Given the description of an element on the screen output the (x, y) to click on. 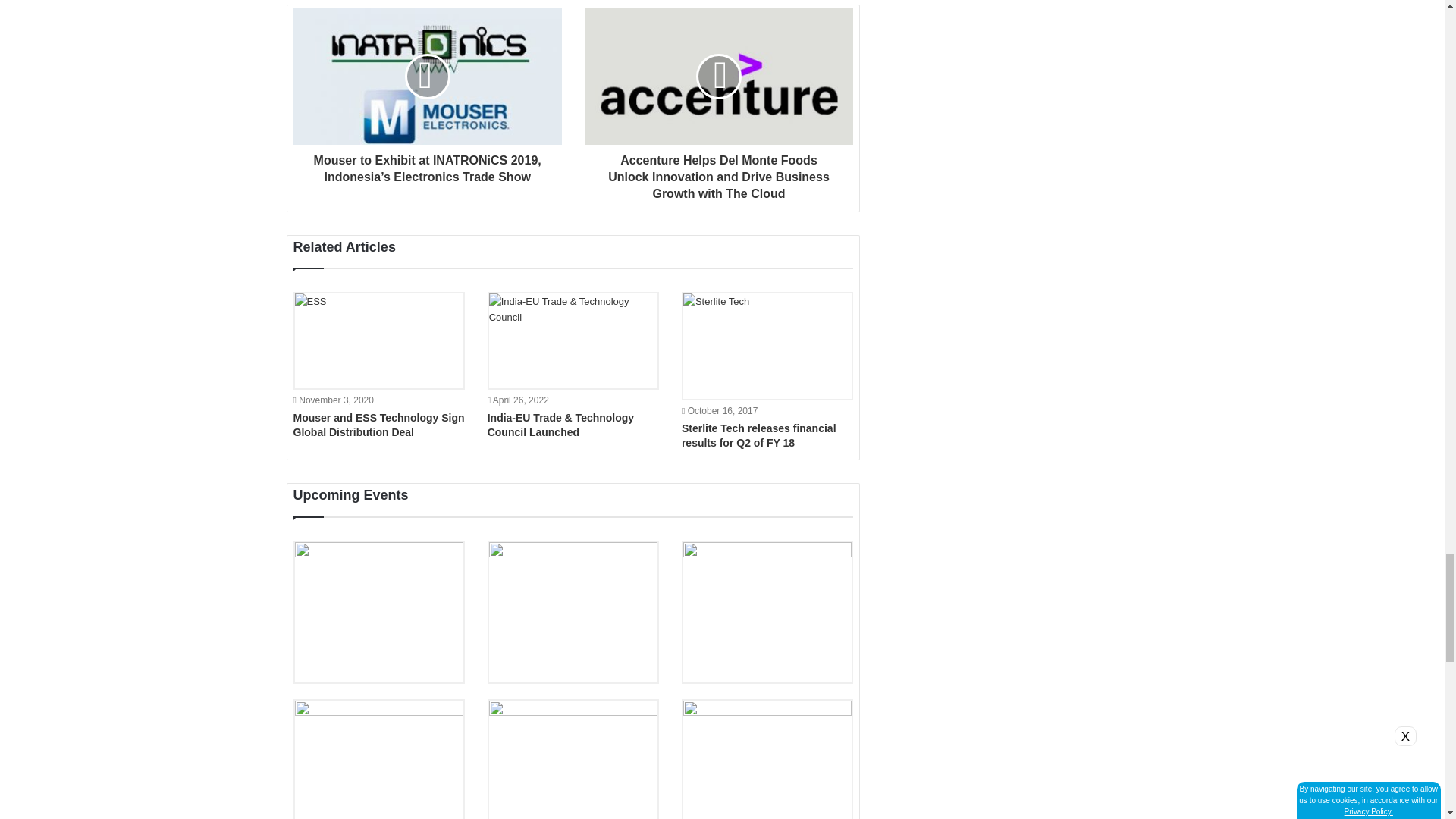
Mouser and ESS Technology Sign Global Distribution Deal (378, 424)
Sterlite Tech releases financial results for Q2 of FY 18 (758, 435)
Sterlite Tech releases financial results for Q2 of FY 18 (767, 345)
Mouser and ESS Technology Sign Global Distribution Deal (378, 340)
